Given the description of an element on the screen output the (x, y) to click on. 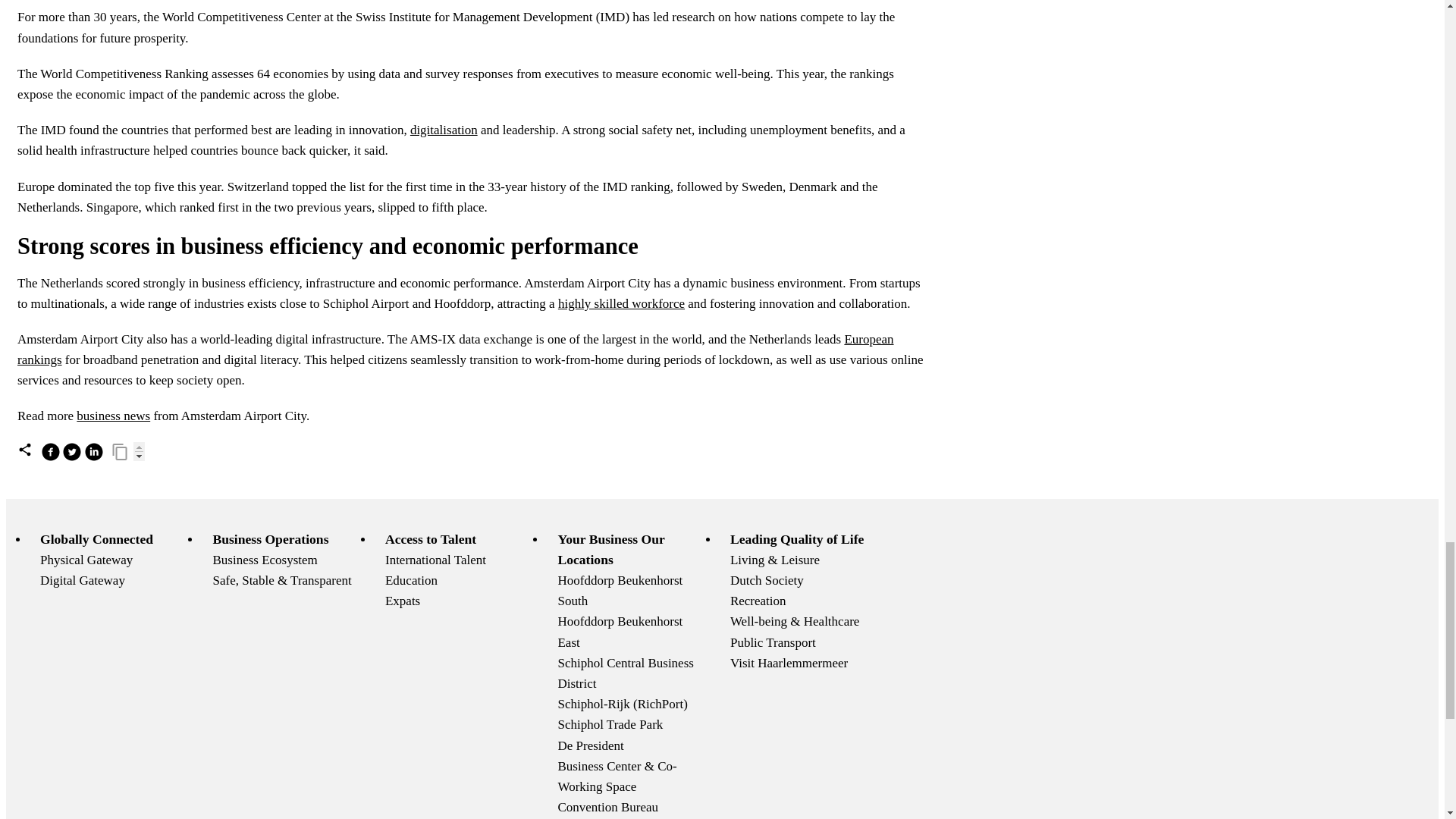
Convention Bureau Event Park Amsterdam (607, 807)
Copy site URL (119, 452)
Expats community Haarlemmermeer (402, 600)
